Given the description of an element on the screen output the (x, y) to click on. 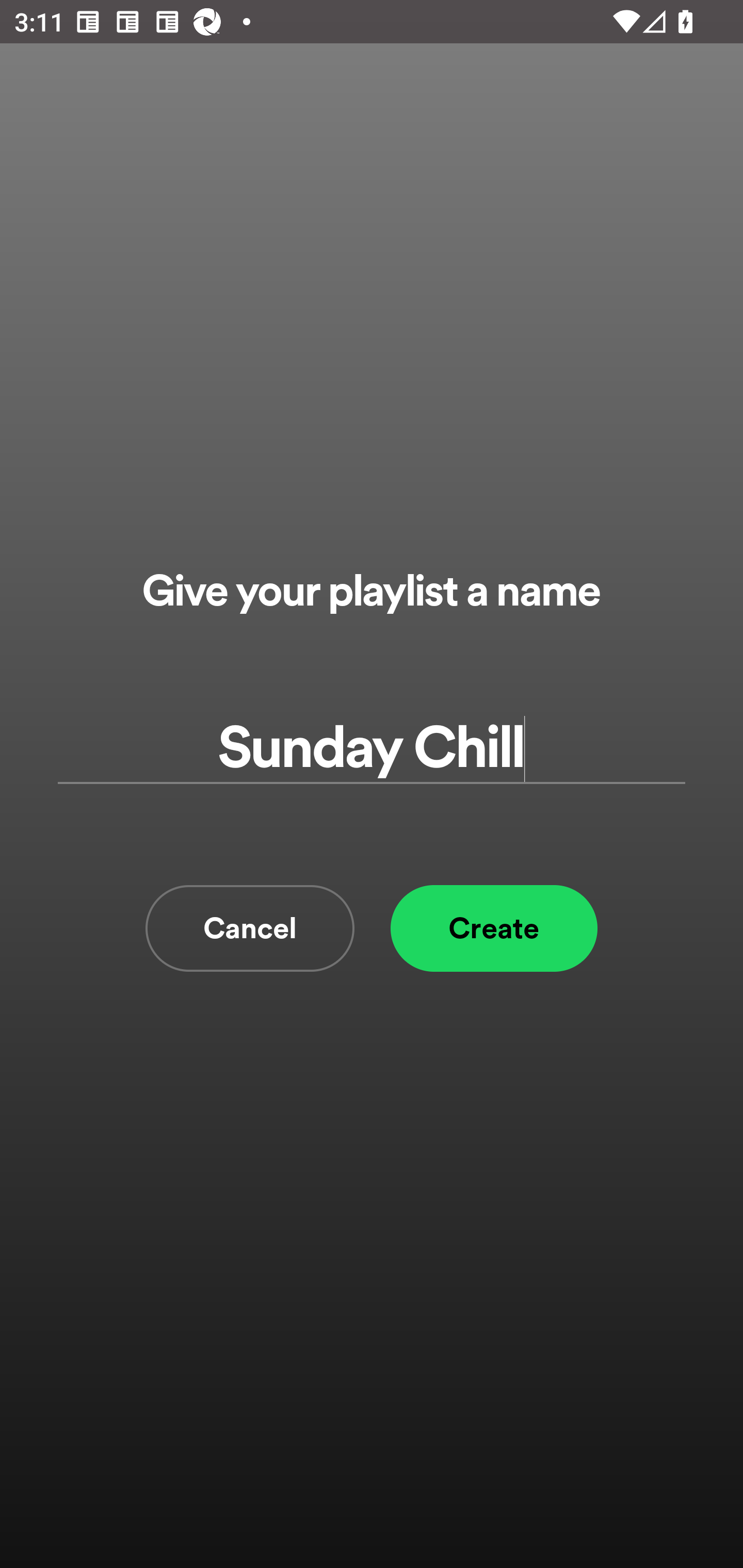
Sunday Chill Add a playlist name (371, 749)
Cancel (249, 928)
Create (493, 928)
